Given the description of an element on the screen output the (x, y) to click on. 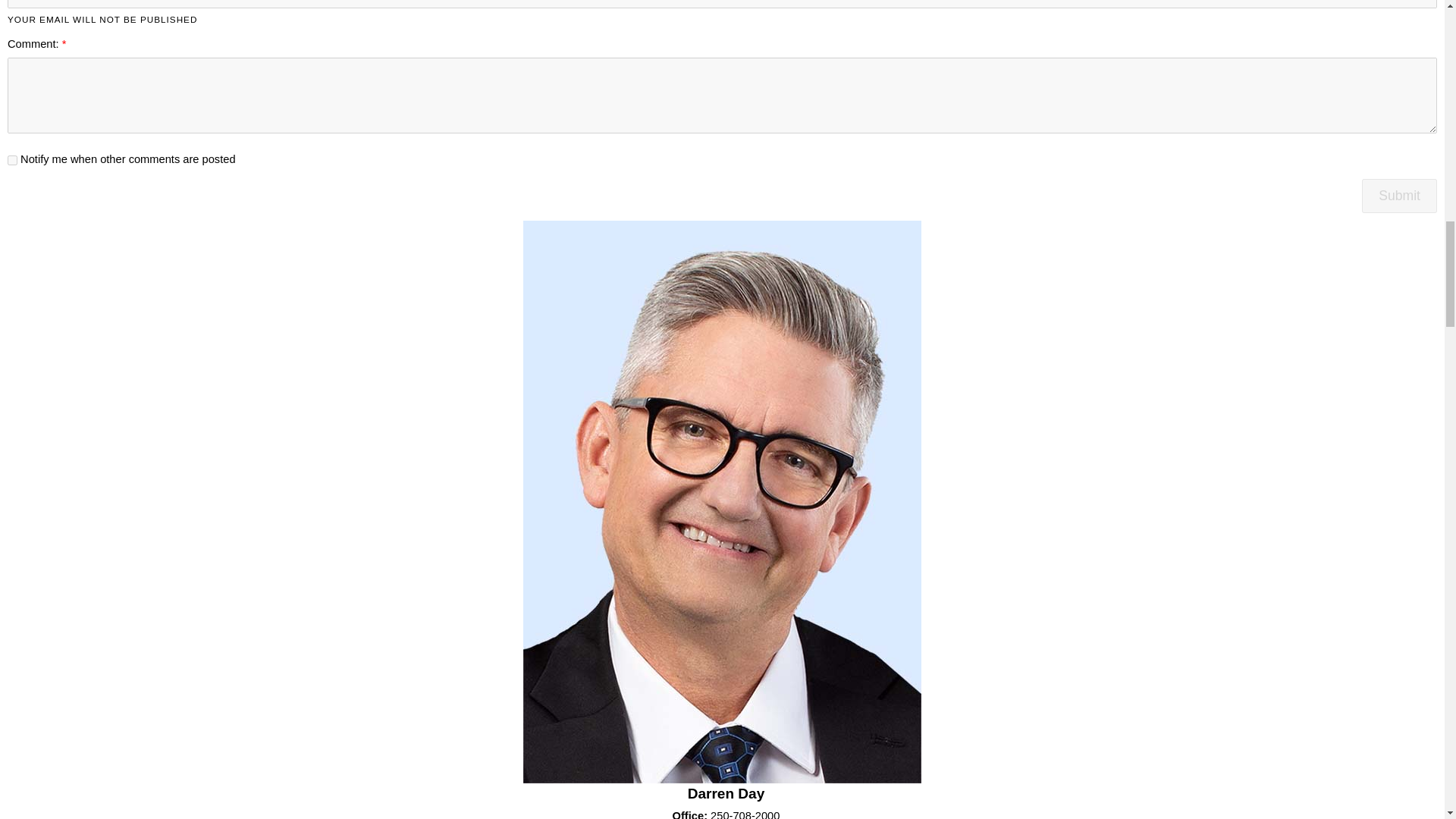
Notify me when other comments are posted (12, 160)
